Given the description of an element on the screen output the (x, y) to click on. 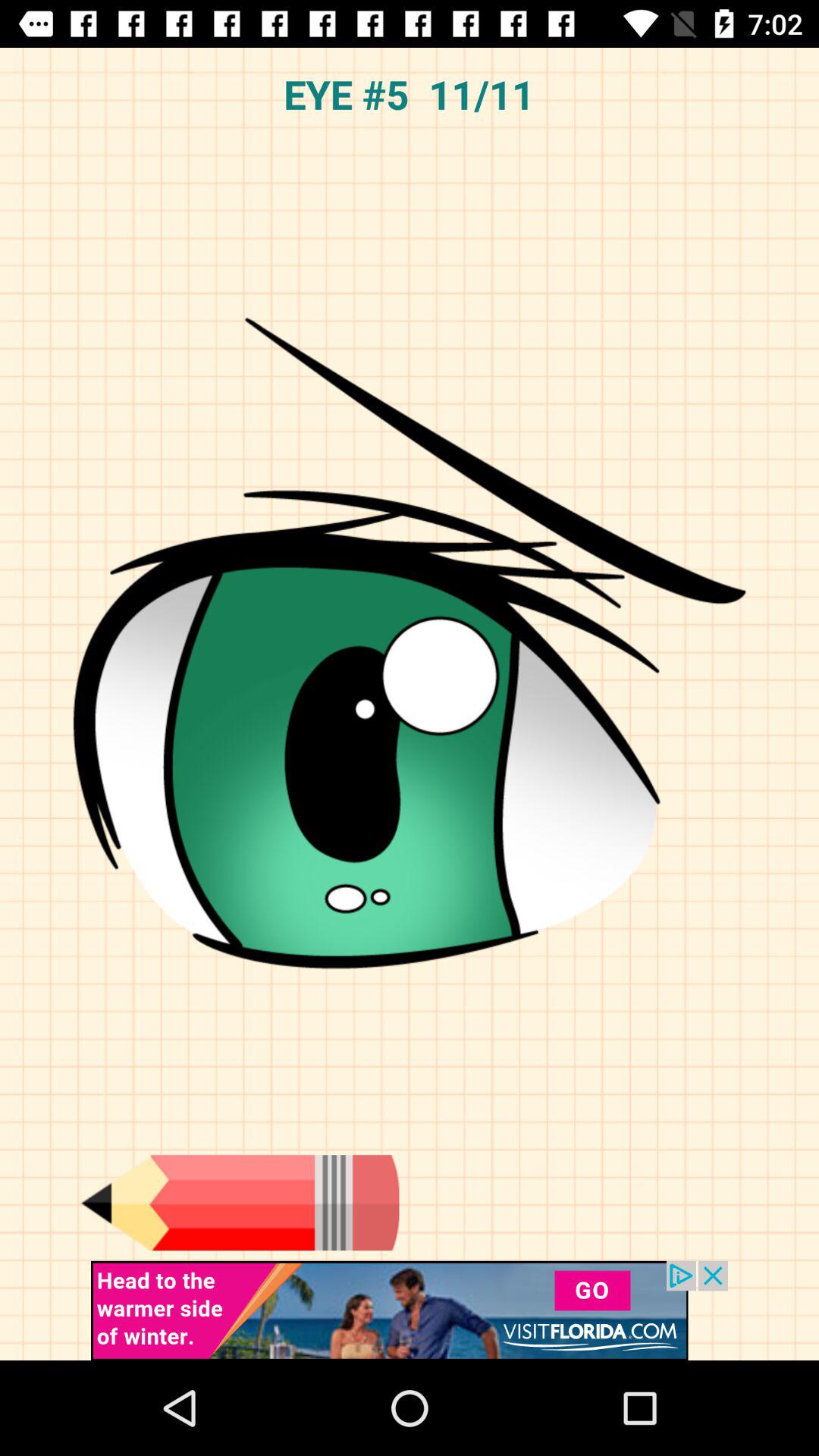
select pencil (239, 1202)
